Given the description of an element on the screen output the (x, y) to click on. 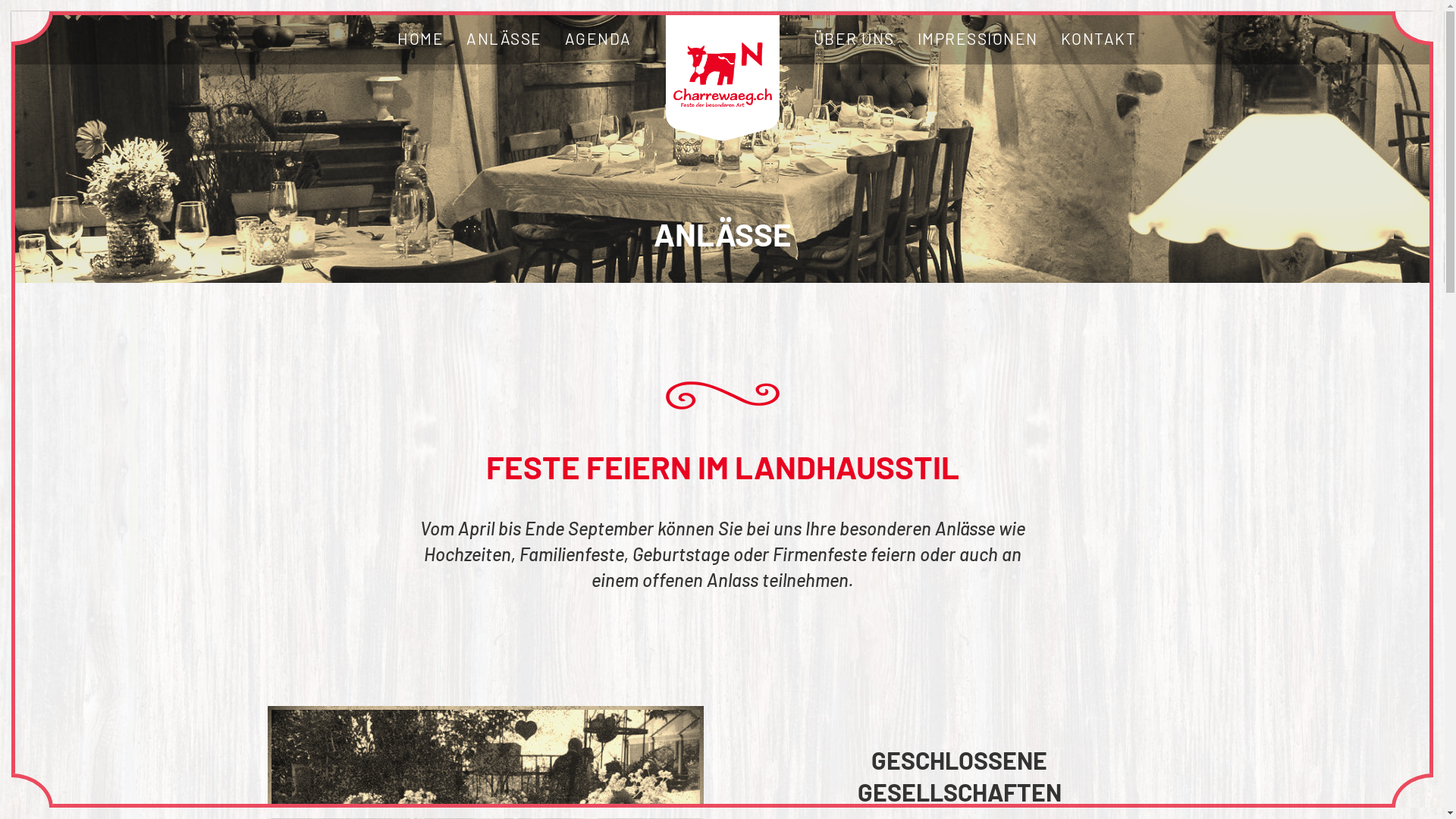
IMPRESSIONEN Element type: text (976, 39)
HOME Element type: text (420, 39)
KONTAKT Element type: text (1098, 39)
AGENDA Element type: text (598, 39)
